Given the description of an element on the screen output the (x, y) to click on. 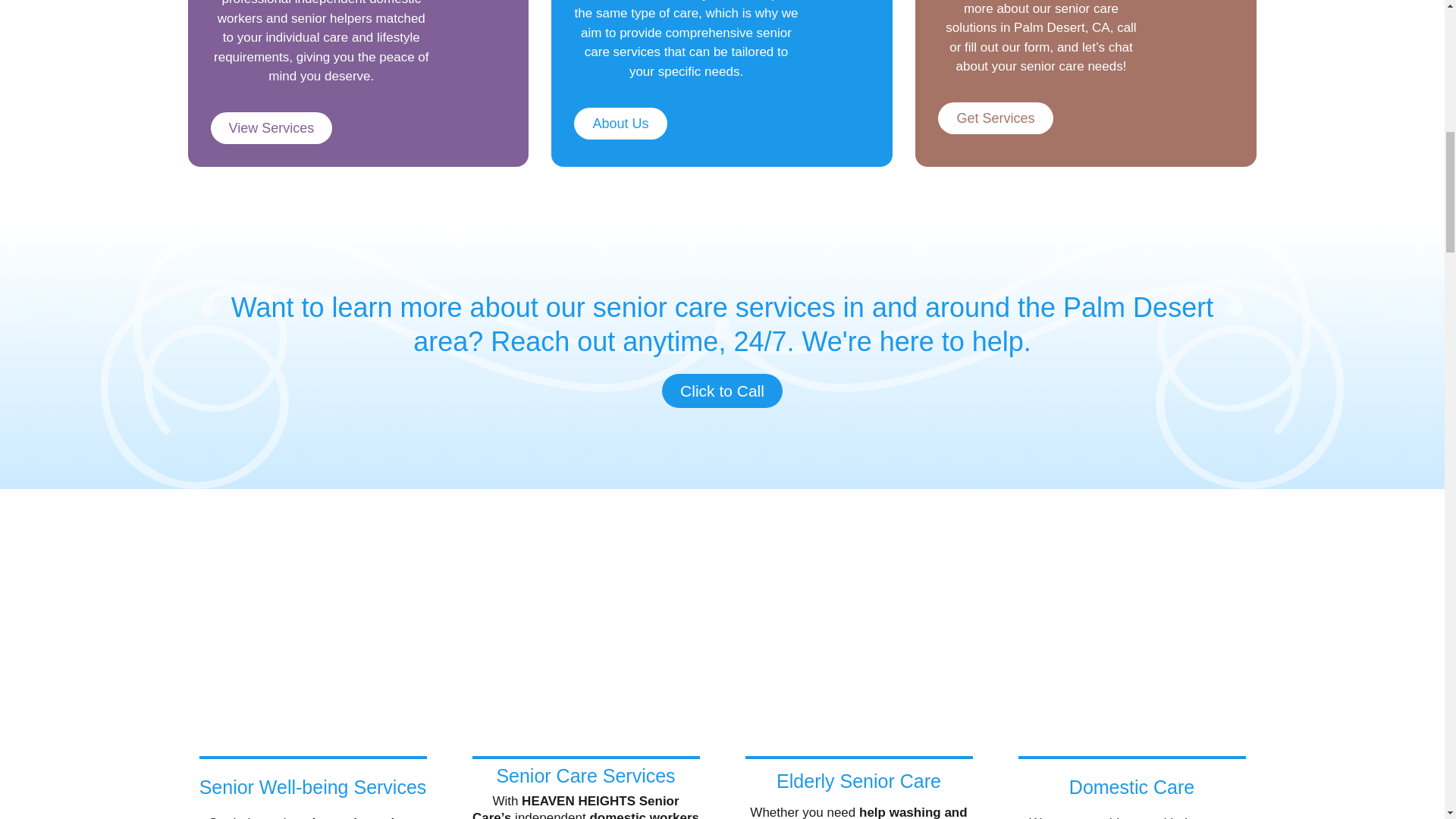
Elderly Senior Care (858, 780)
Get Services (994, 118)
Senior Care Services (585, 775)
Click to Call (722, 390)
About Us (619, 123)
Senior Well-being Services (312, 786)
View Services (272, 128)
